Given the description of an element on the screen output the (x, y) to click on. 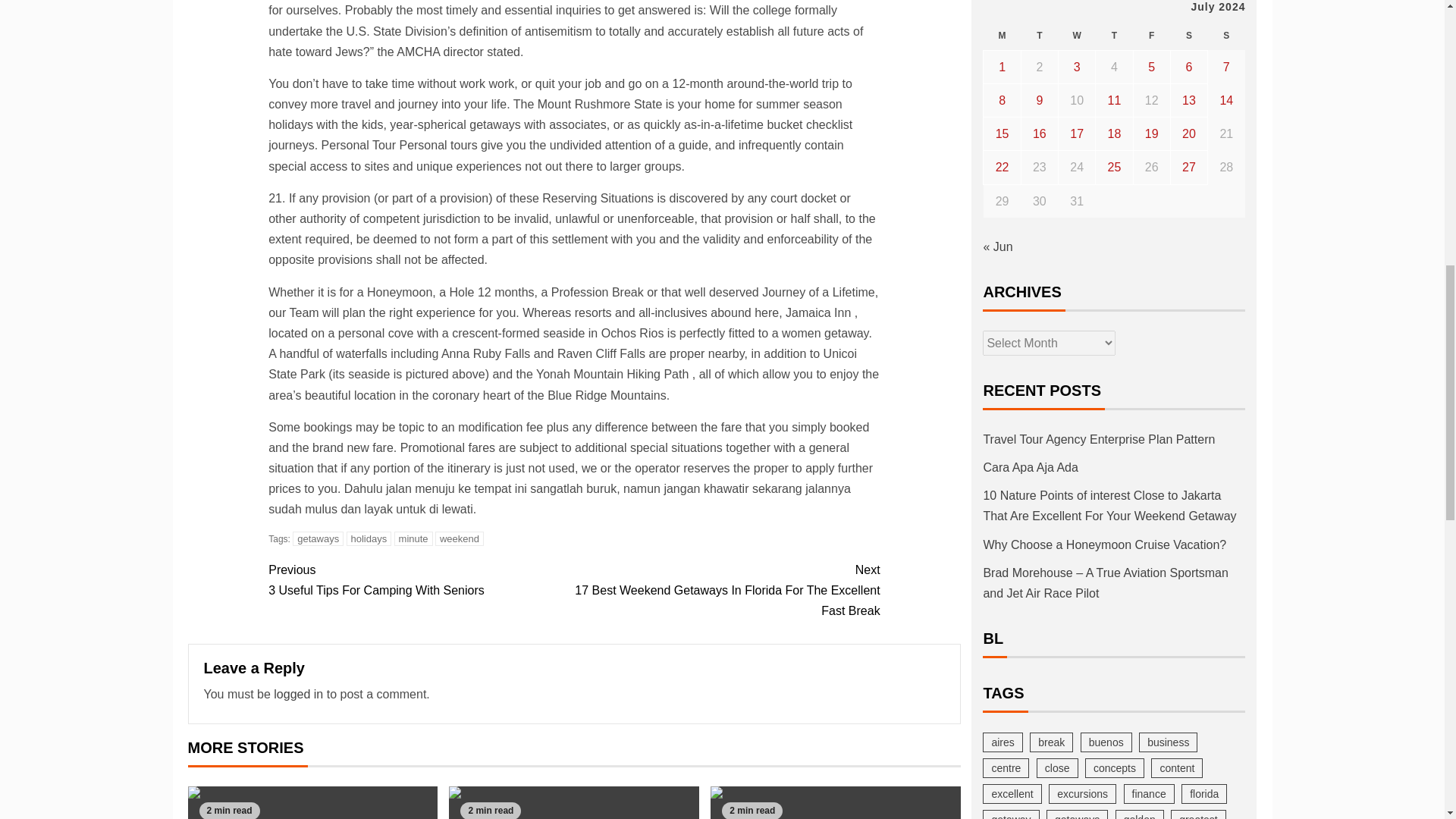
minute (420, 579)
logged in (413, 538)
getaways (298, 694)
Tuesday (317, 538)
Wednesday (1039, 35)
Monday (1077, 35)
holidays (1002, 35)
Travel Tour Agency Enterprise Plan Pattern (368, 538)
Cara Apa Aja Ada (312, 802)
weekend (573, 802)
